Given the description of an element on the screen output the (x, y) to click on. 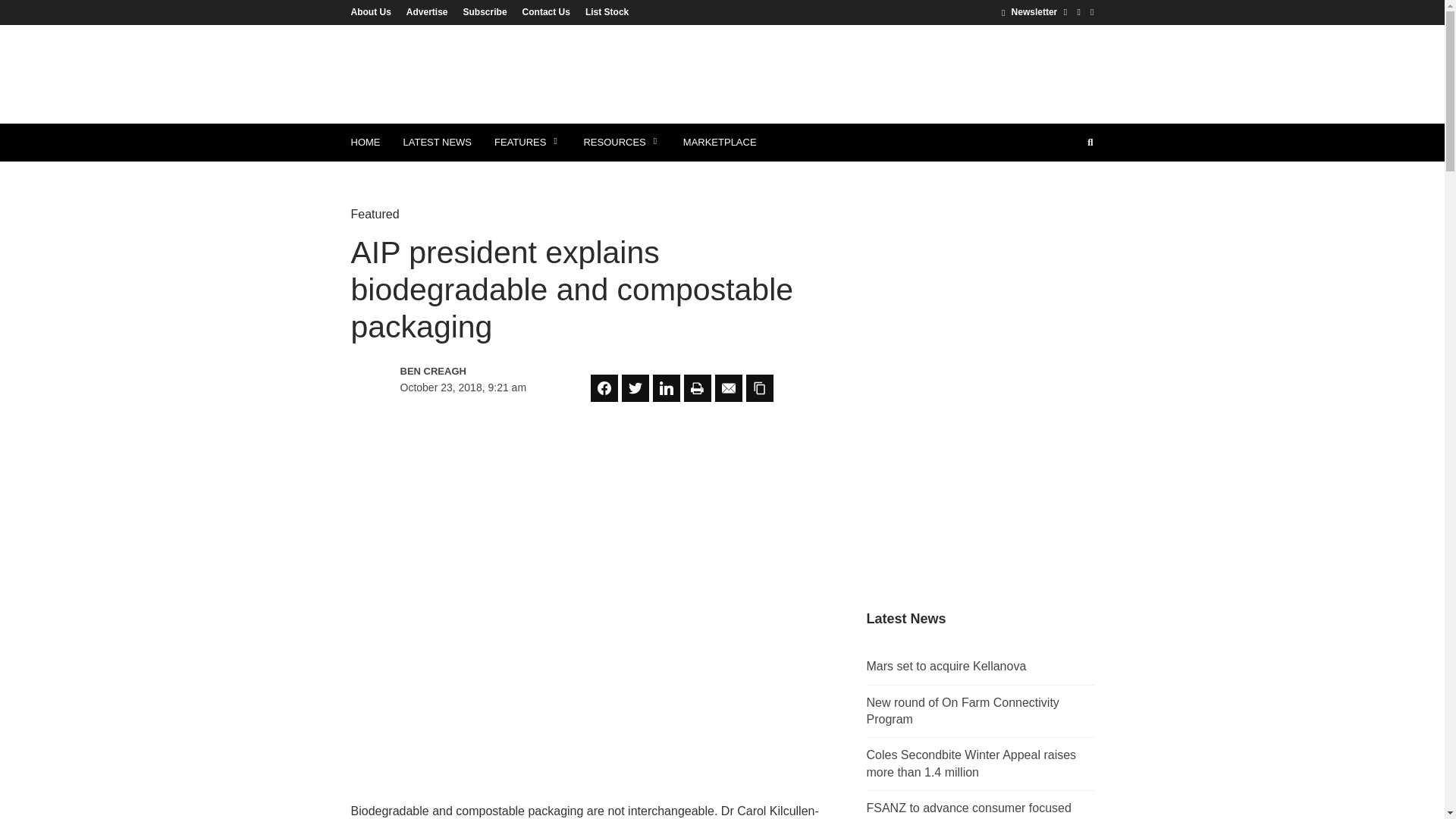
HOME (365, 142)
LATEST NEWS (437, 142)
MARKETPLACE (719, 142)
About Us (373, 11)
List Stock (603, 11)
Newsletter (1029, 11)
Featured (374, 214)
Share on Copy Link (759, 388)
Advertise (426, 11)
Share on Email (728, 388)
